Given the description of an element on the screen output the (x, y) to click on. 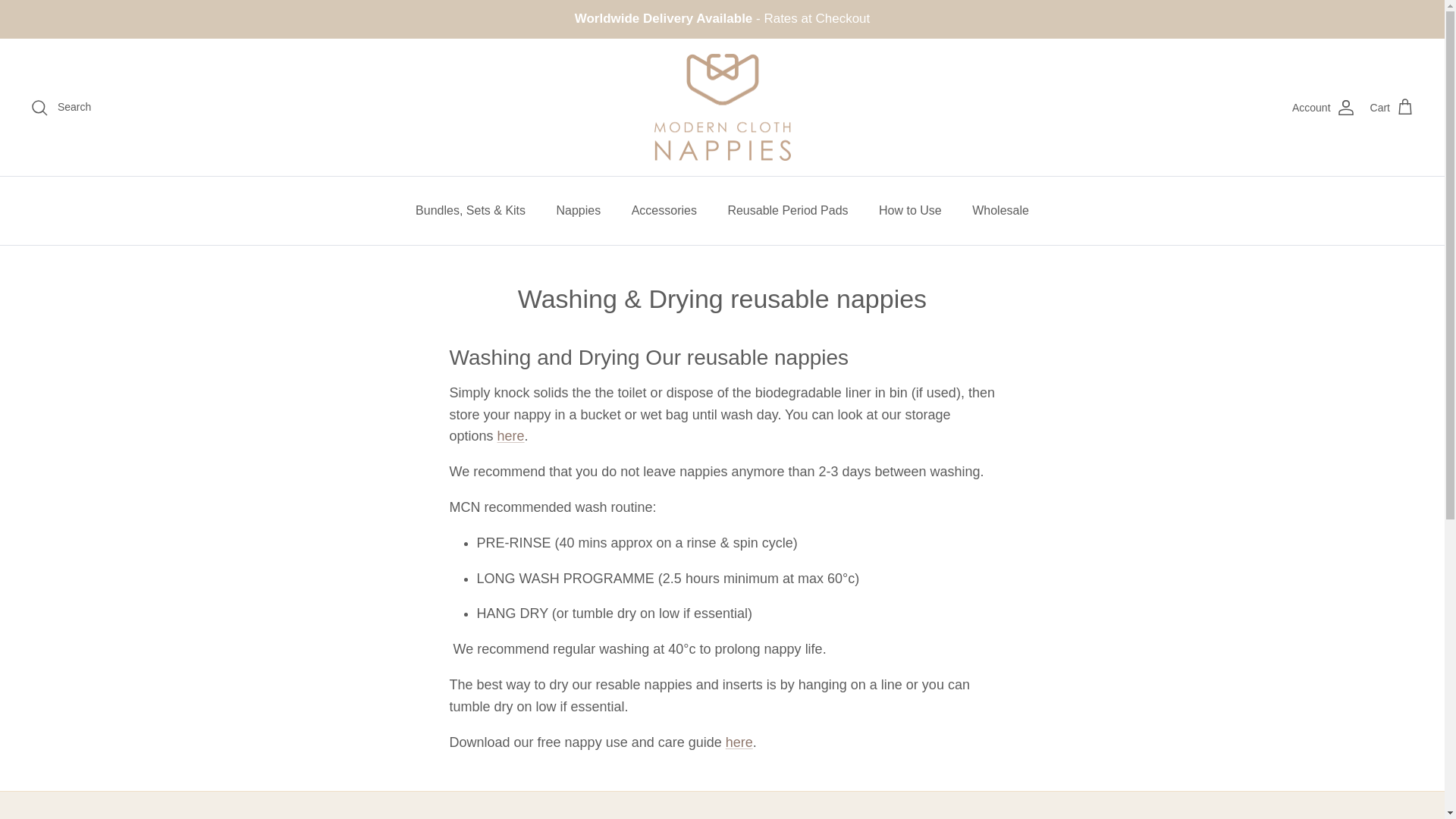
Cart (1391, 107)
Account (1323, 107)
Search (60, 107)
Modern Cloth Nappies (721, 107)
Nappies (578, 210)
